Given the description of an element on the screen output the (x, y) to click on. 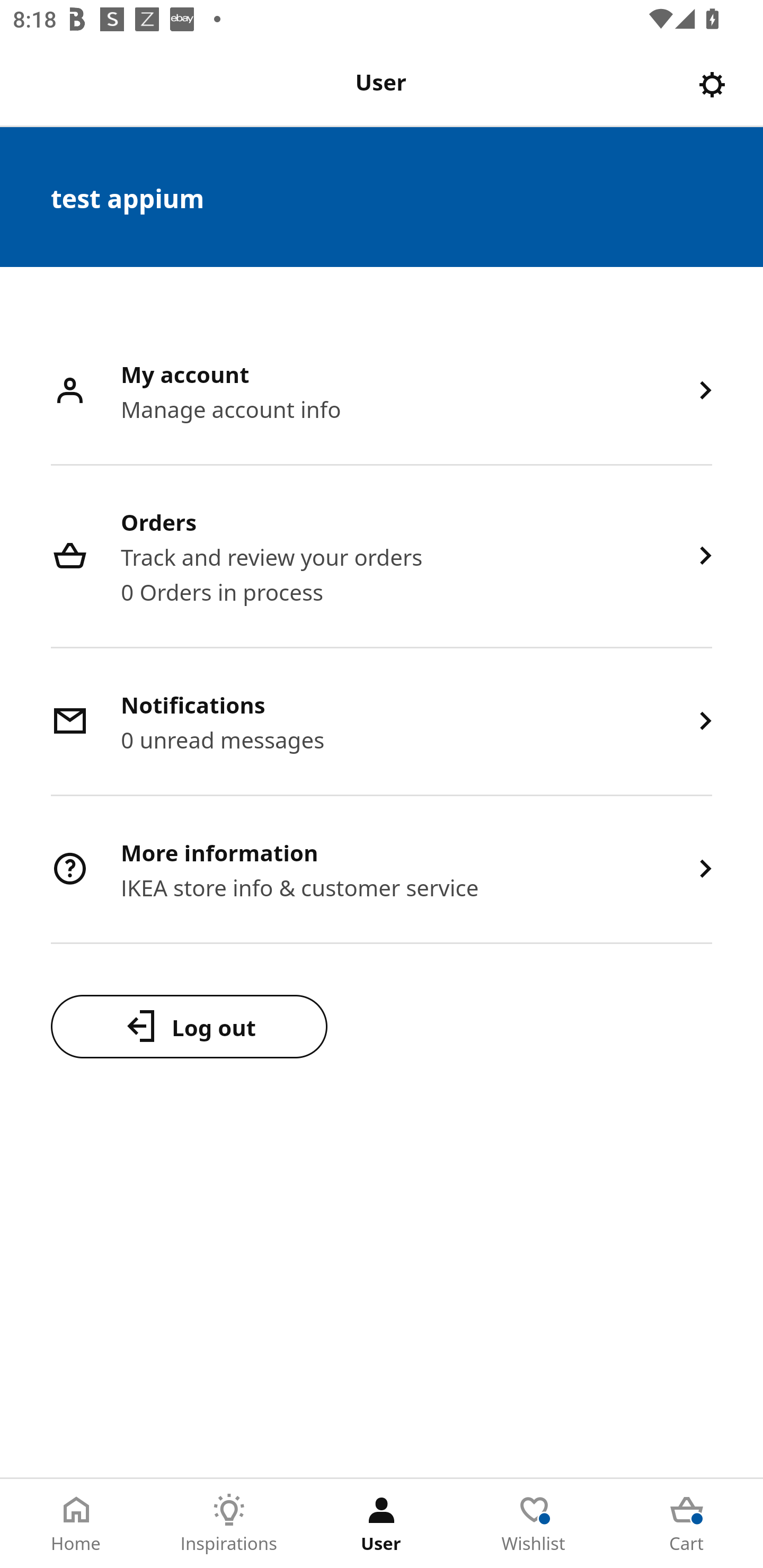
My account
Manage account info (381, 391)
Notifications
0 unread messages (381, 722)
Log out (189, 1026)
Home
Tab 1 of 5 (76, 1522)
Inspirations
Tab 2 of 5 (228, 1522)
User
Tab 3 of 5 (381, 1522)
Wishlist
Tab 4 of 5 (533, 1522)
Cart
Tab 5 of 5 (686, 1522)
